Given the description of an element on the screen output the (x, y) to click on. 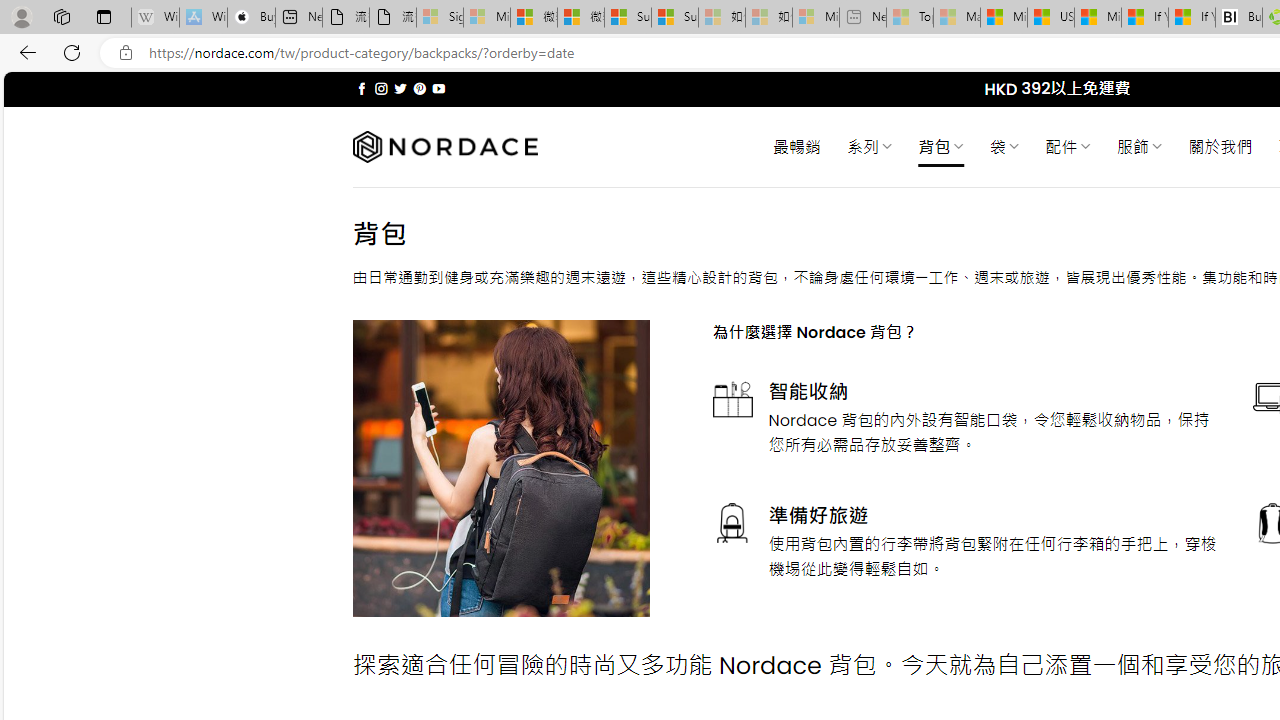
Follow on Instagram (381, 88)
Top Stories - MSN - Sleeping (910, 17)
